Given the description of an element on the screen output the (x, y) to click on. 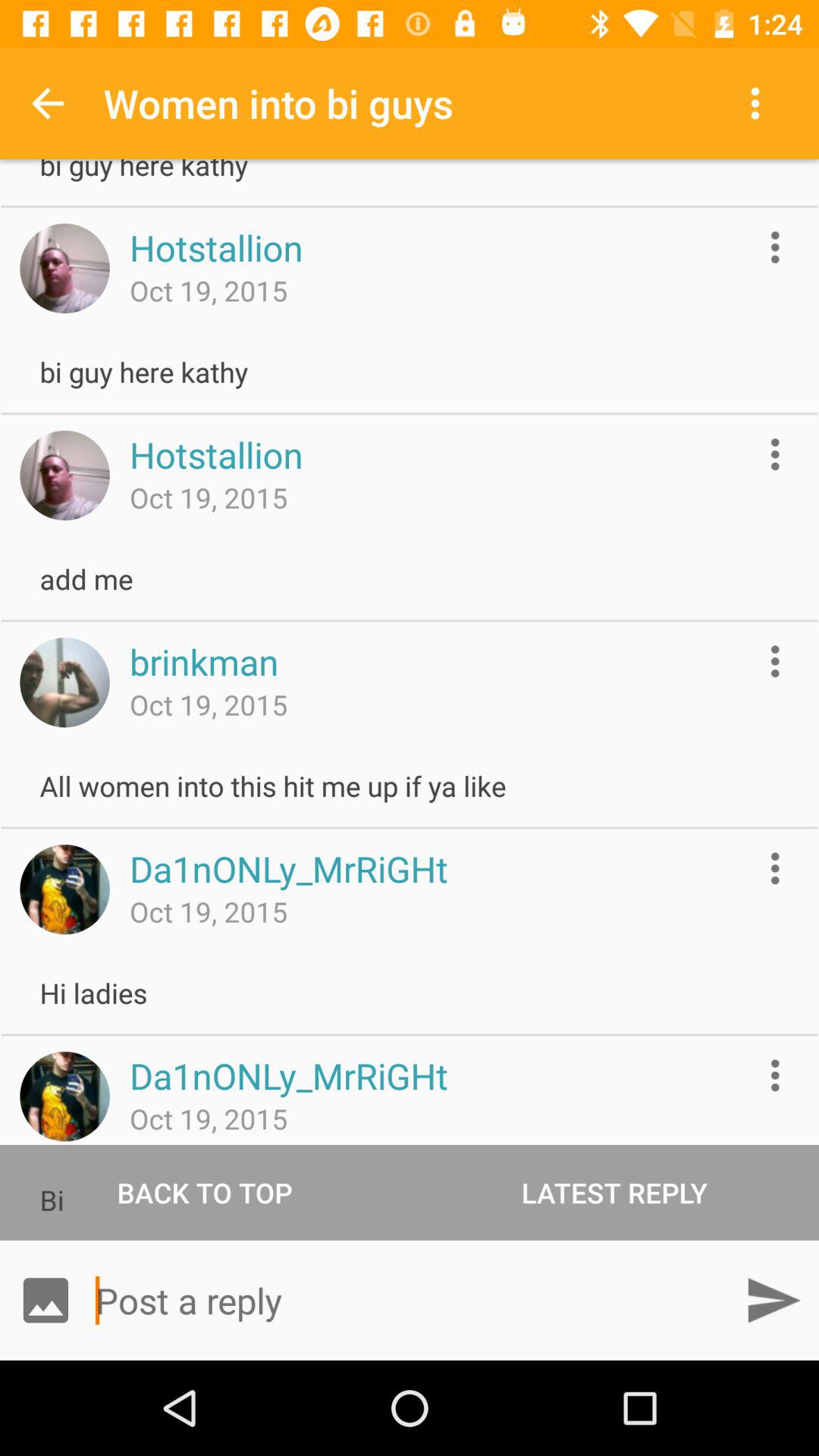
swipe until brinkman item (203, 661)
